Given the description of an element on the screen output the (x, y) to click on. 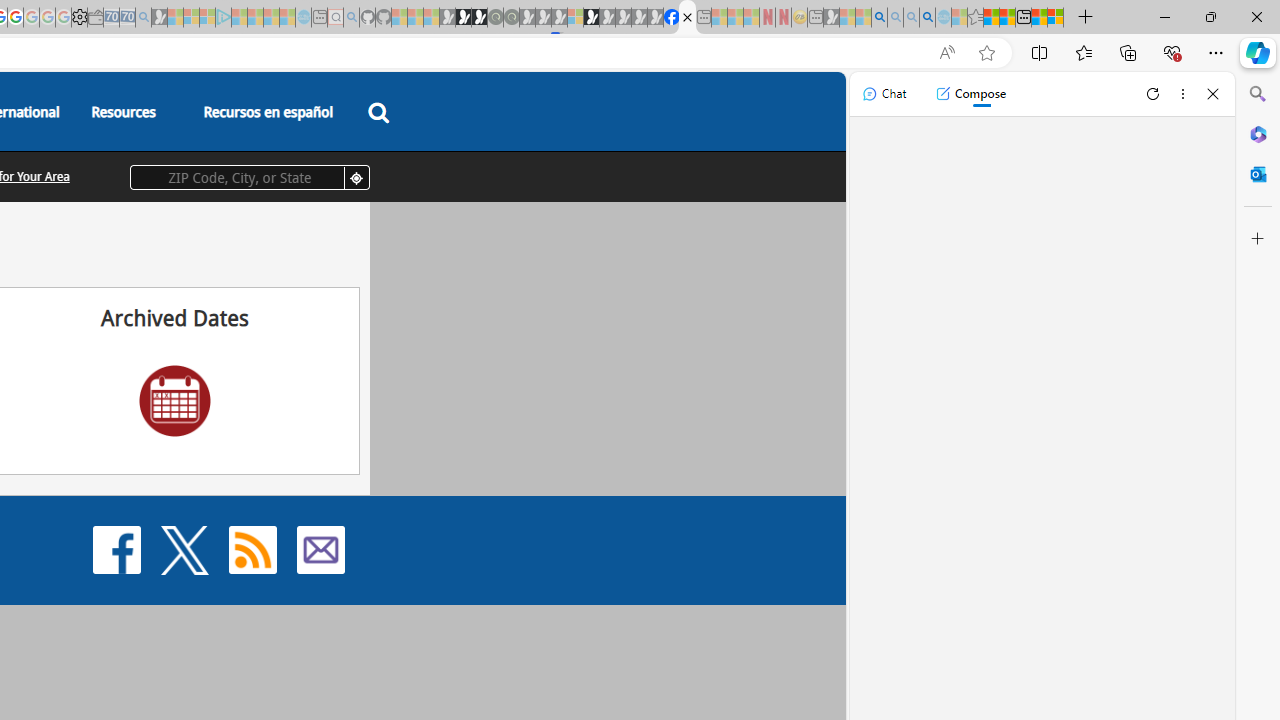
Facebook (116, 548)
X (184, 549)
